Given the description of an element on the screen output the (x, y) to click on. 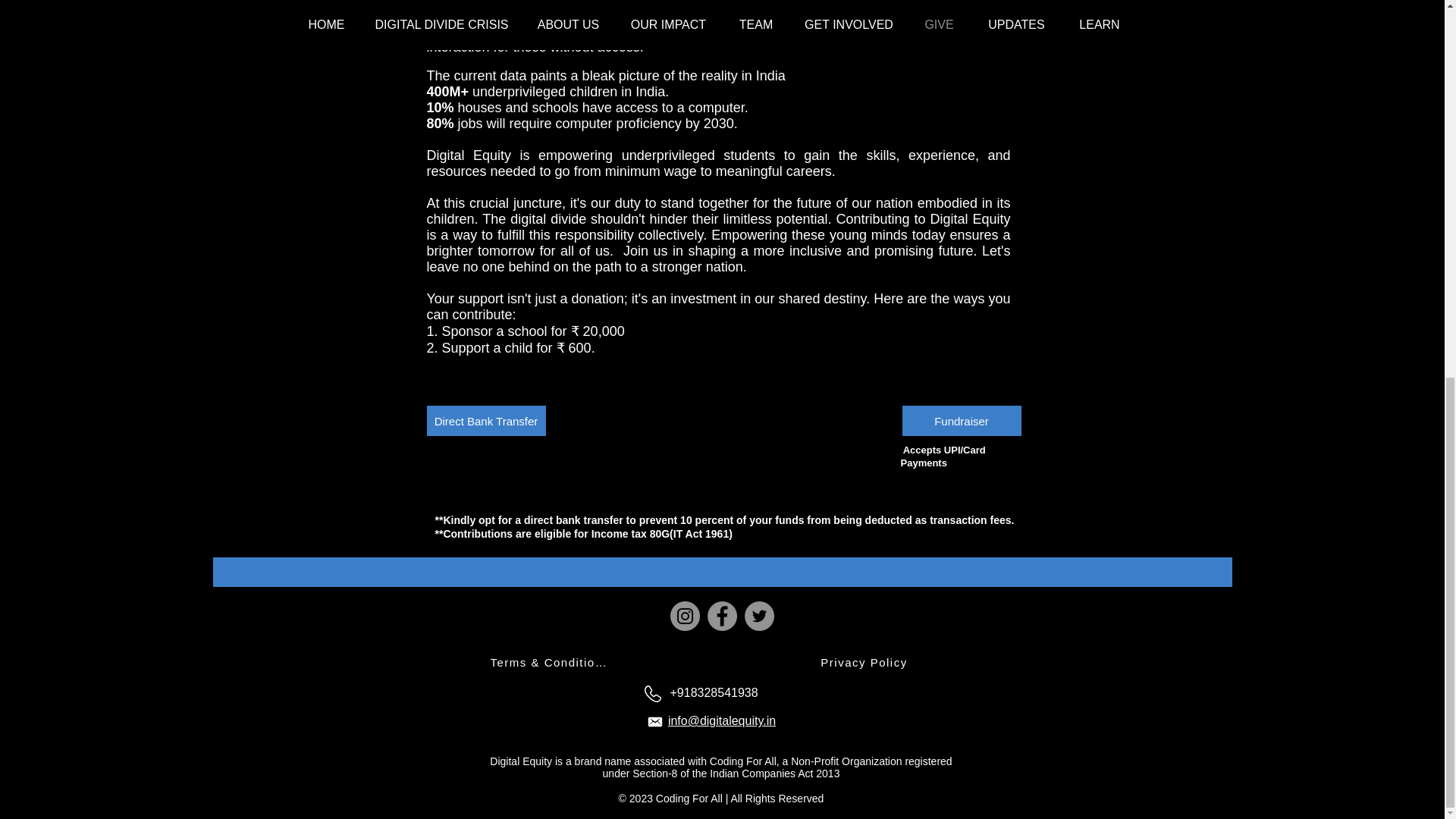
Privacy Policy (864, 662)
Direct Bank Transfer (485, 420)
Fundraiser (962, 420)
